Given the description of an element on the screen output the (x, y) to click on. 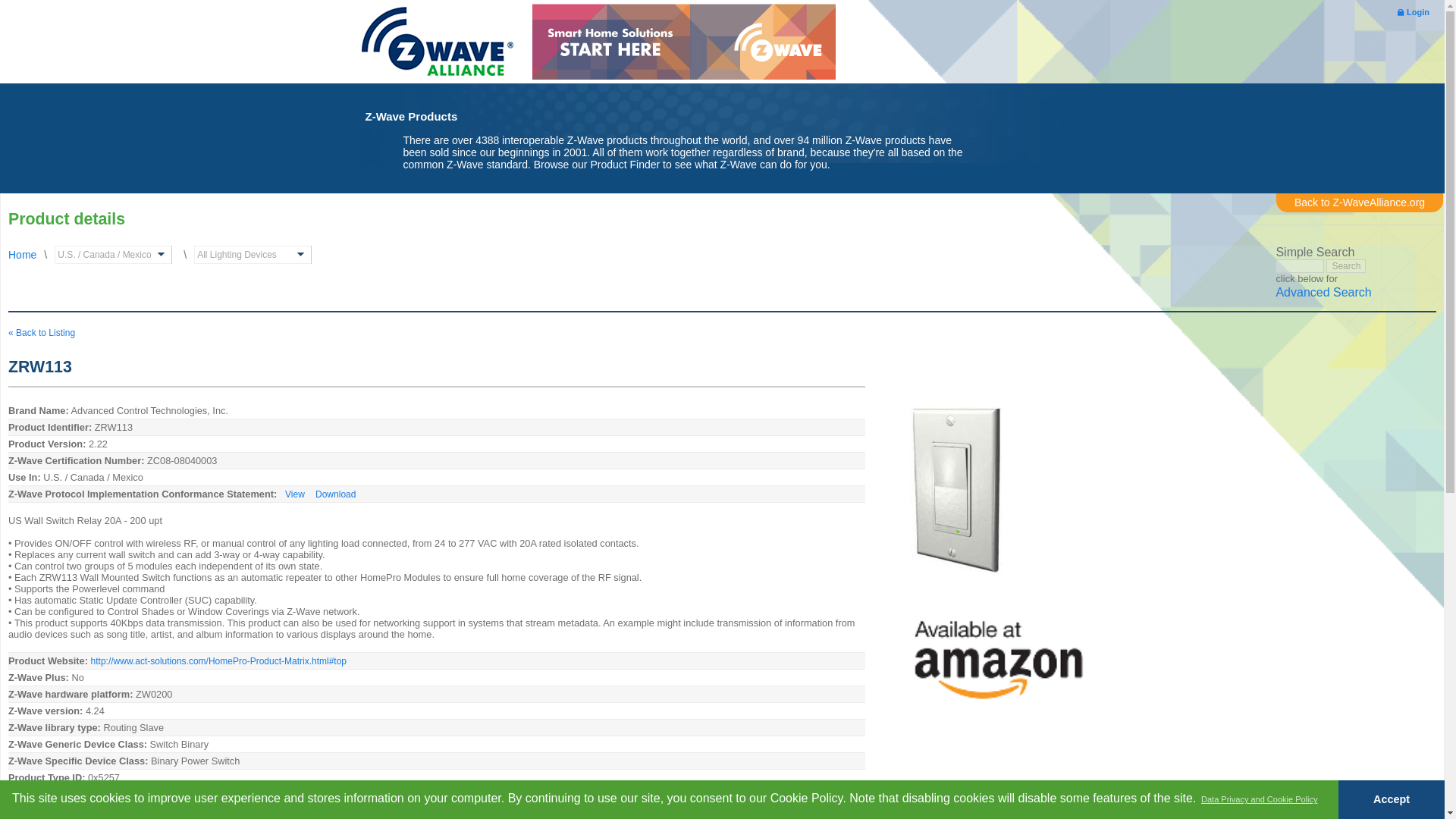
Search (1345, 265)
View (294, 493)
Home (22, 254)
Advanced Search (1323, 292)
Back to Z-WaveAlliance.org (1359, 202)
View Command Classes (150, 810)
Data Privacy and Cookie Policy (1259, 798)
 Home (437, 43)
Search (1345, 265)
Login (1413, 11)
Download (335, 493)
